Given the description of an element on the screen output the (x, y) to click on. 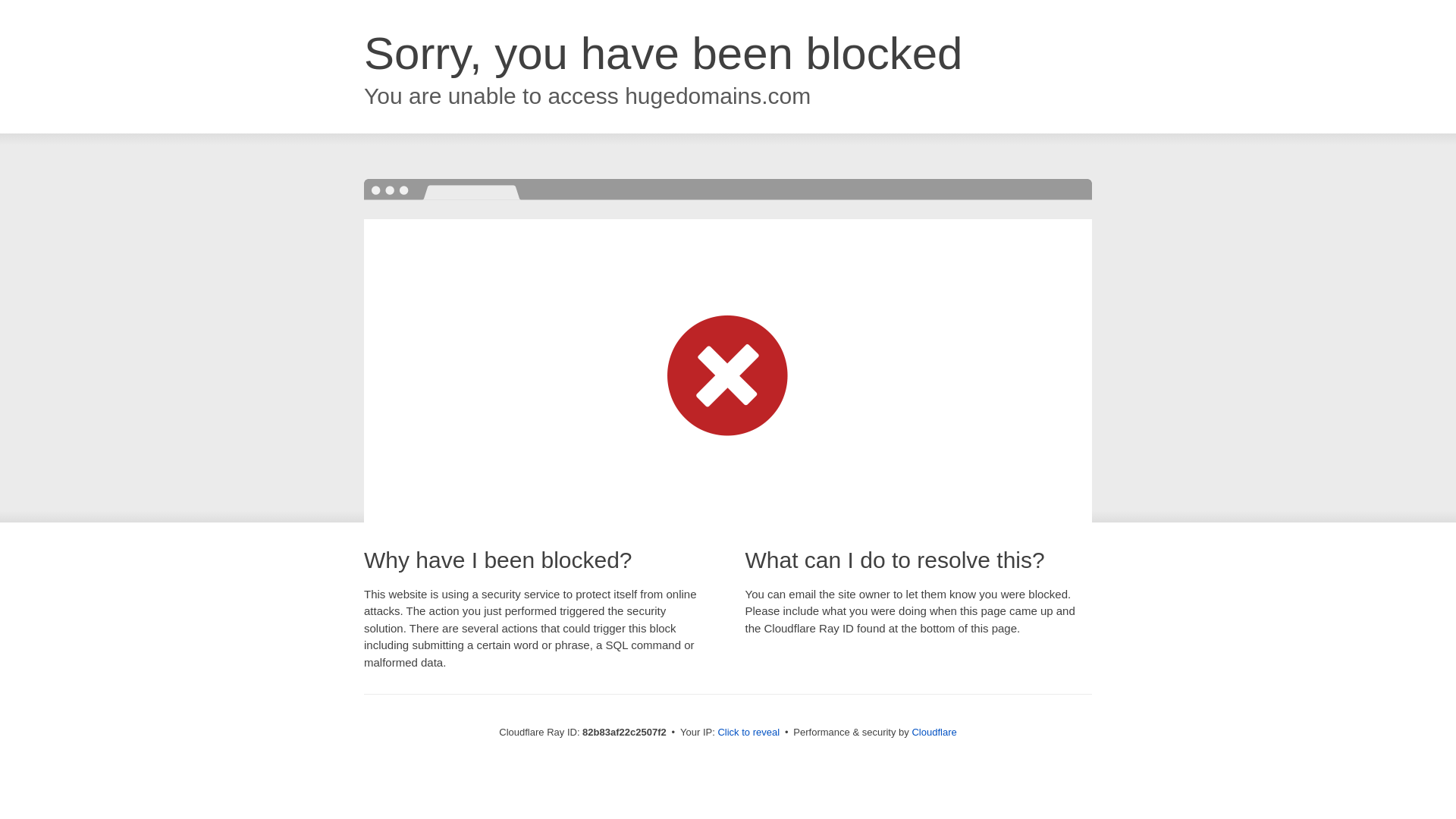
Cloudflare Element type: text (933, 731)
Click to reveal Element type: text (748, 732)
